Given the description of an element on the screen output the (x, y) to click on. 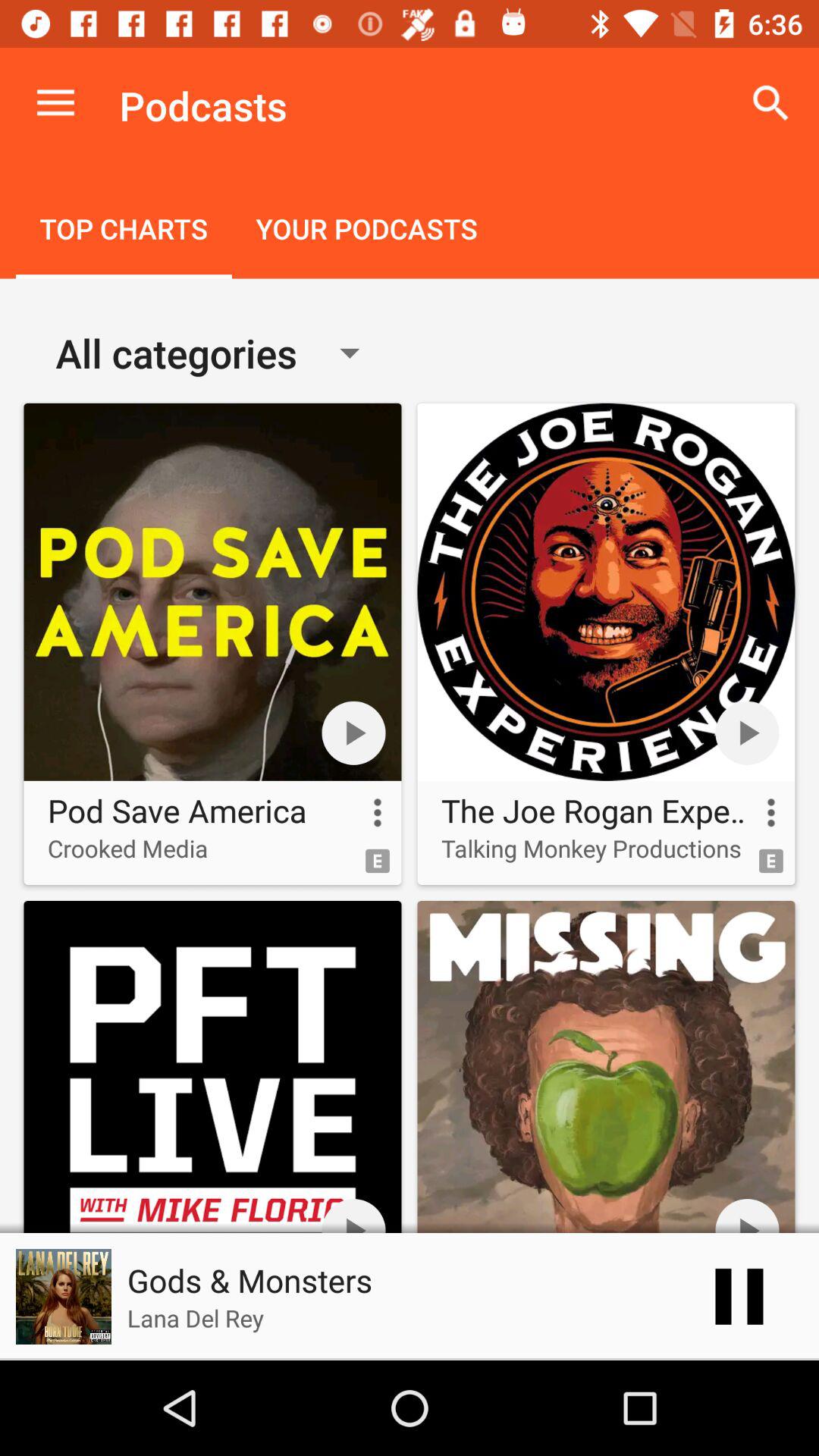
turn on icon to the left of podcasts item (55, 103)
